Given the description of an element on the screen output the (x, y) to click on. 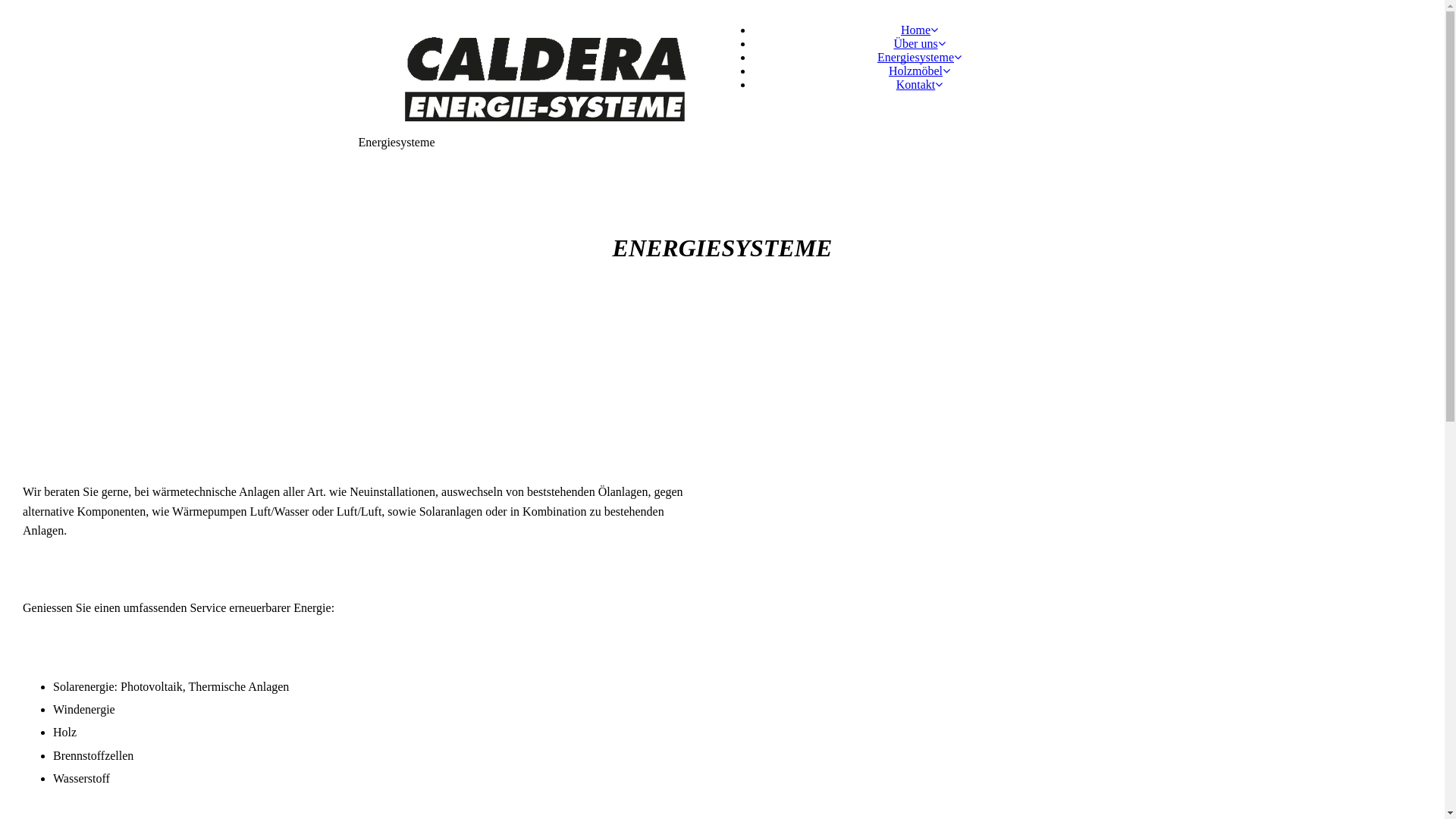
Home Element type: text (919, 29)
Energiesysteme Element type: text (919, 56)
Kontakt Element type: text (919, 84)
